Given the description of an element on the screen output the (x, y) to click on. 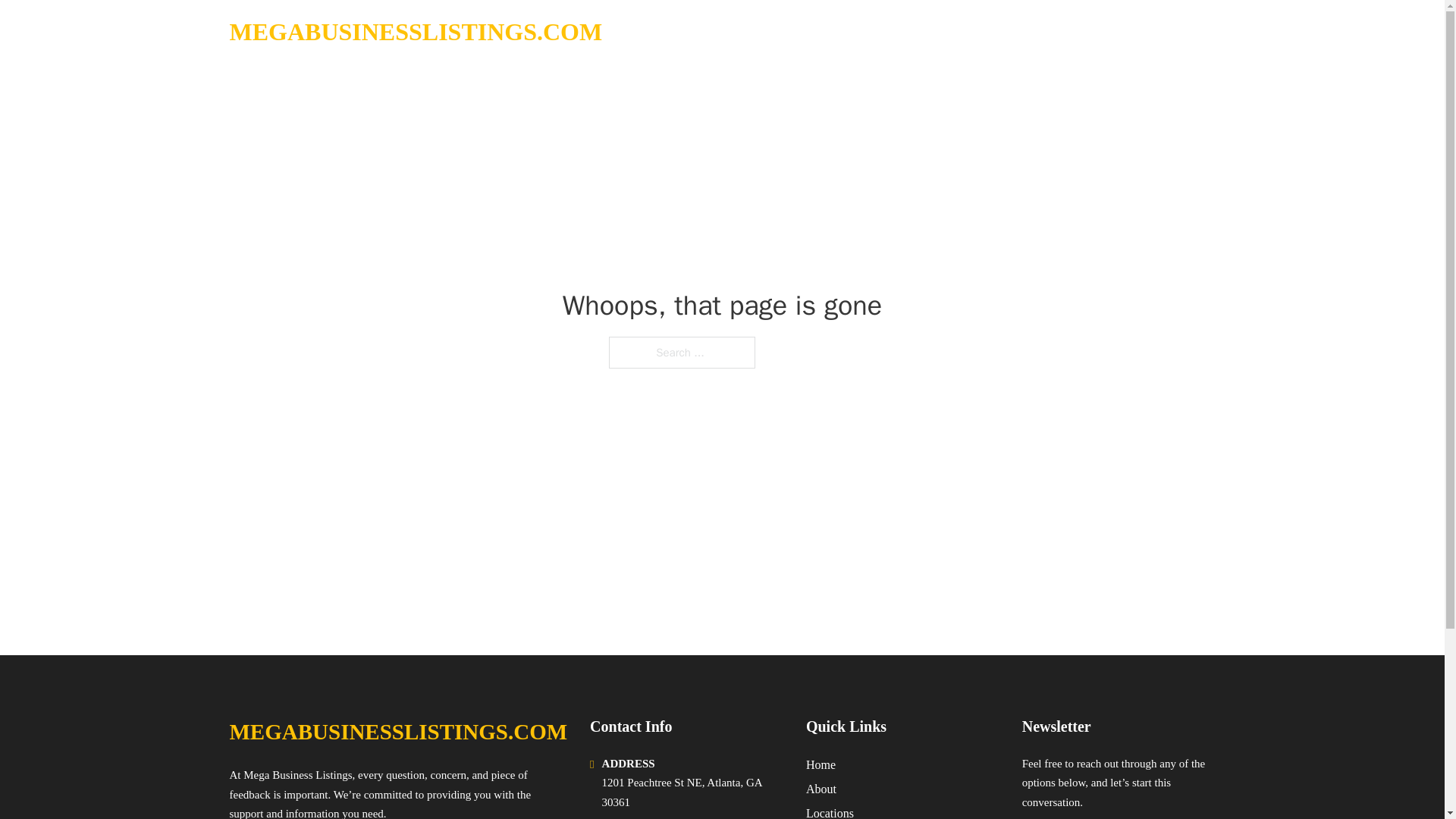
Home (820, 764)
LOCATIONS (1098, 31)
HOME (1025, 31)
Locations (829, 811)
MEGABUSINESSLISTINGS.COM (415, 31)
About (820, 788)
MEGABUSINESSLISTINGS.COM (397, 732)
